Given the description of an element on the screen output the (x, y) to click on. 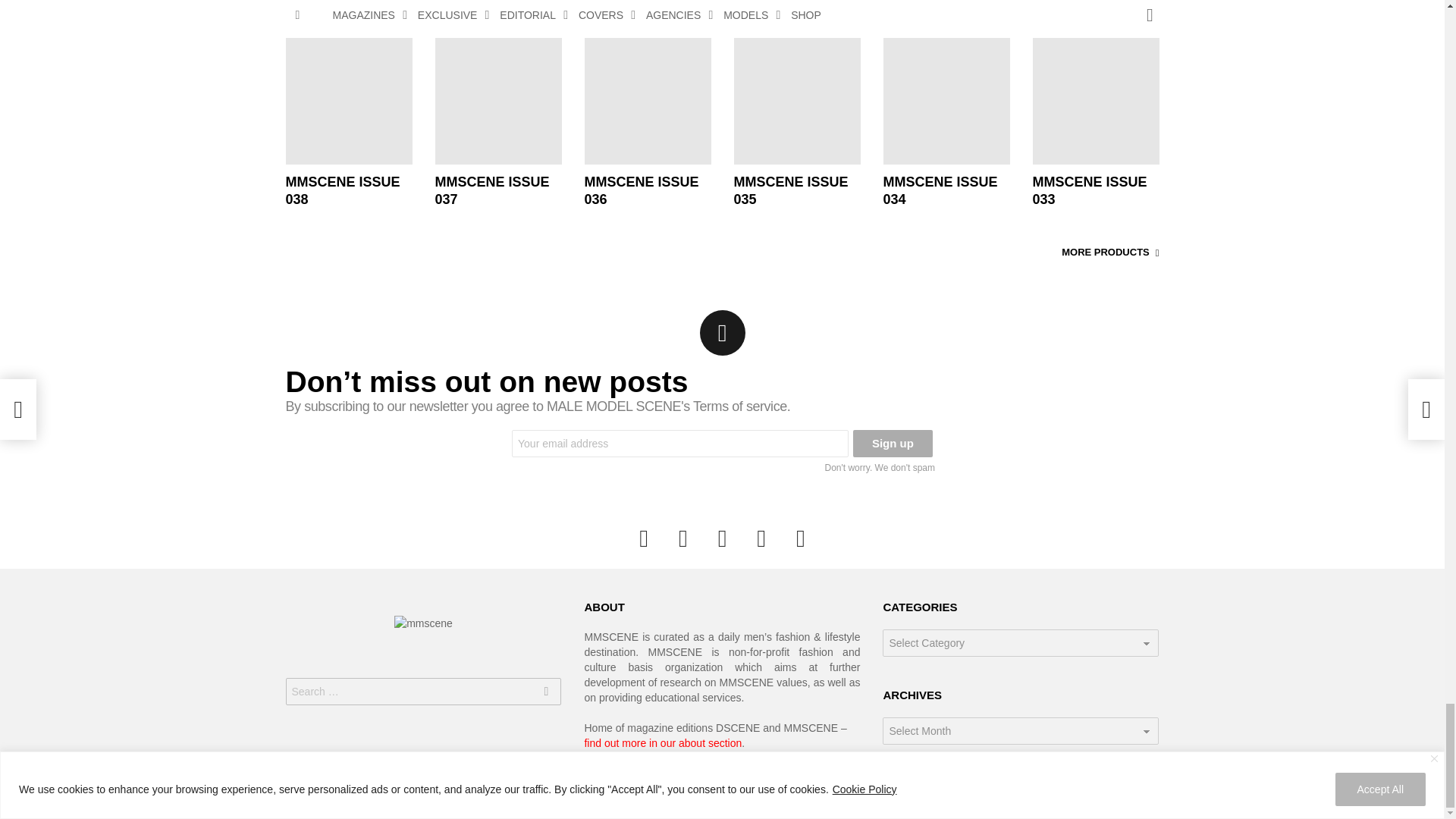
Sign up (893, 443)
